Given the description of an element on the screen output the (x, y) to click on. 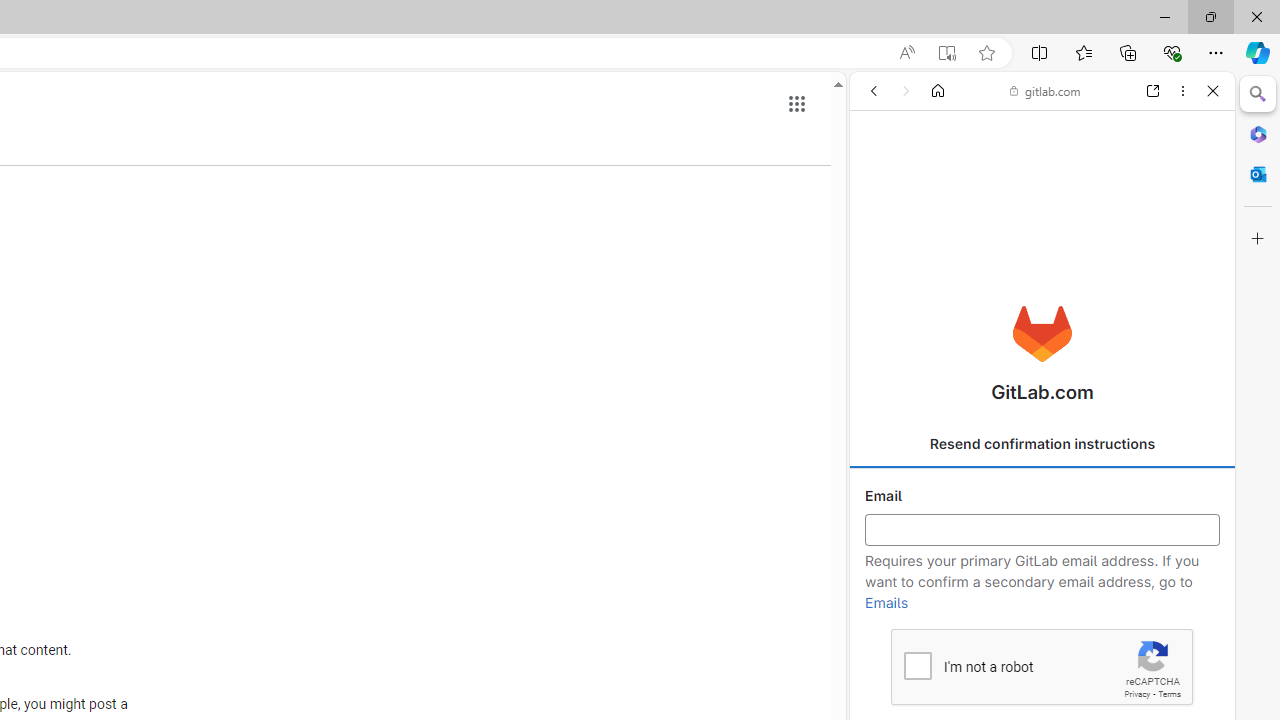
This site scope (936, 180)
Read aloud this page (Ctrl+Shift+U) (906, 53)
Search the web (1051, 137)
GitLab (1034, 288)
Enter Immersive Reader (F9) (946, 53)
Search Filter, ALL (881, 228)
Collections (1128, 52)
Browser essentials (1171, 52)
About GitLab (1042, 592)
Privacy (1136, 694)
VIDEOS (1002, 228)
Outlook (1258, 174)
Dashboard (1042, 641)
Open link in new tab (1153, 91)
Dashboard (1042, 641)
